Given the description of an element on the screen output the (x, y) to click on. 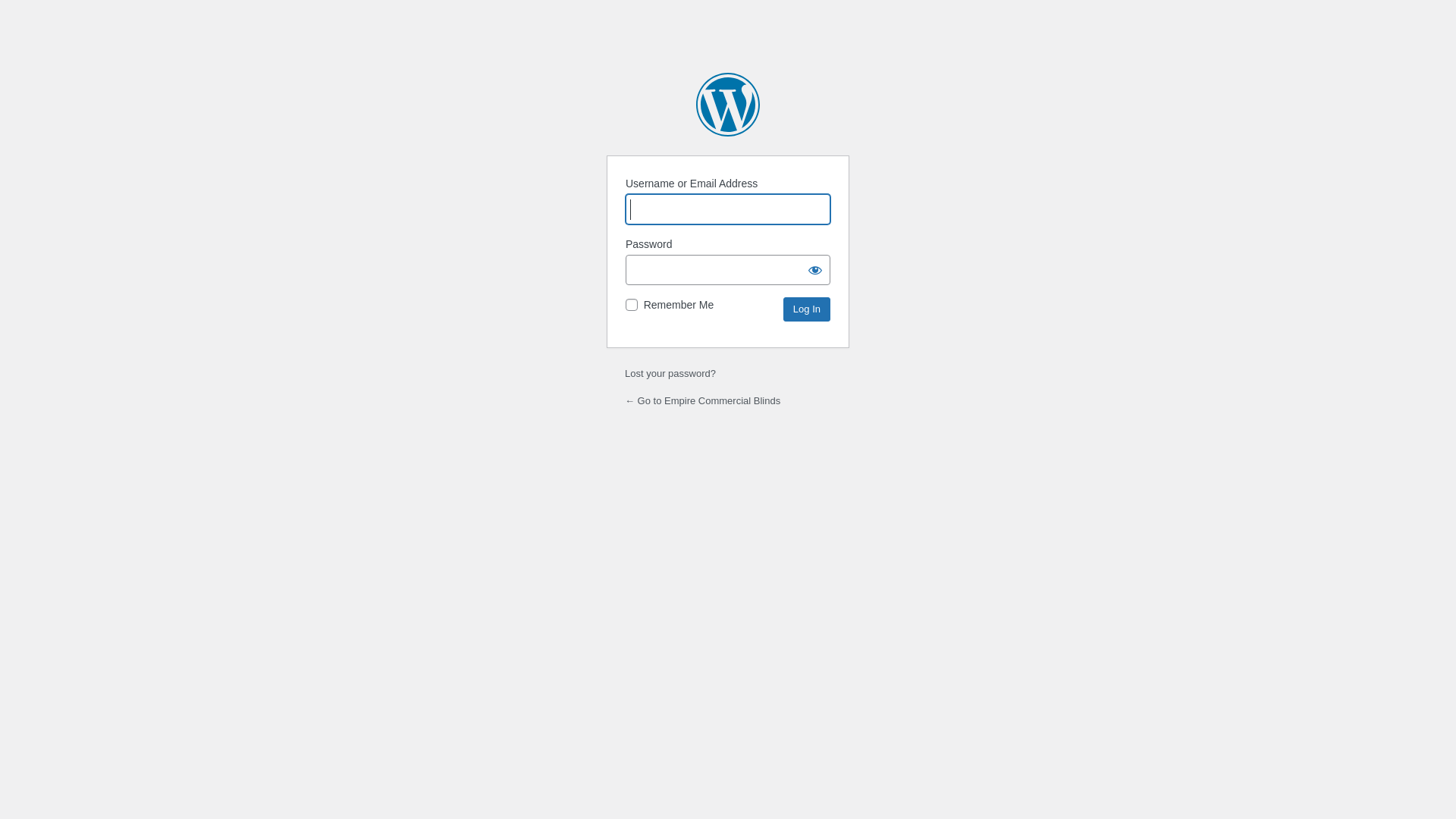
Lost your password? Element type: text (669, 373)
Powered by WordPress Element type: text (727, 104)
Log In Element type: text (806, 309)
